Given the description of an element on the screen output the (x, y) to click on. 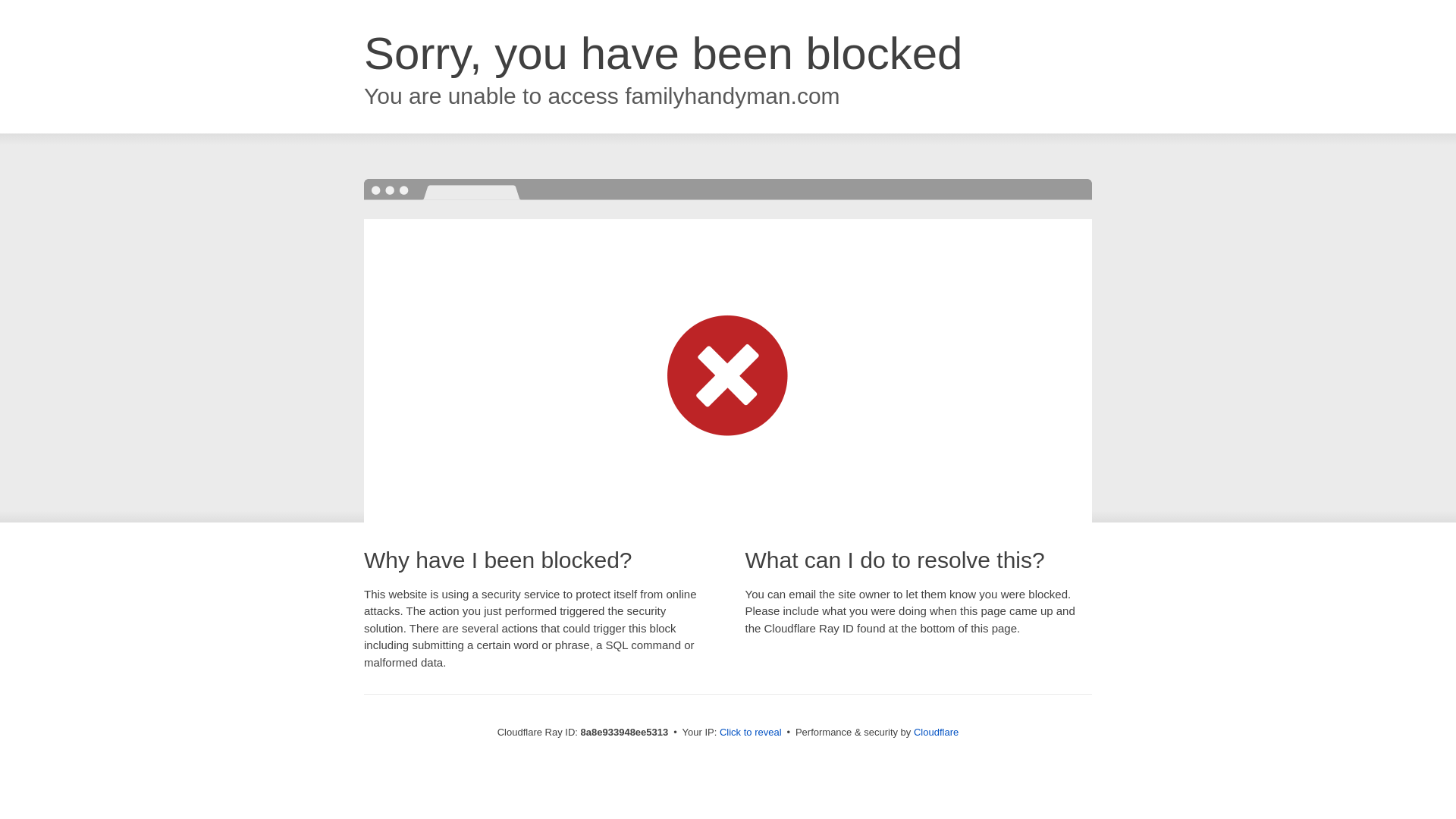
Click to reveal (750, 732)
Cloudflare (936, 731)
